Given the description of an element on the screen output the (x, y) to click on. 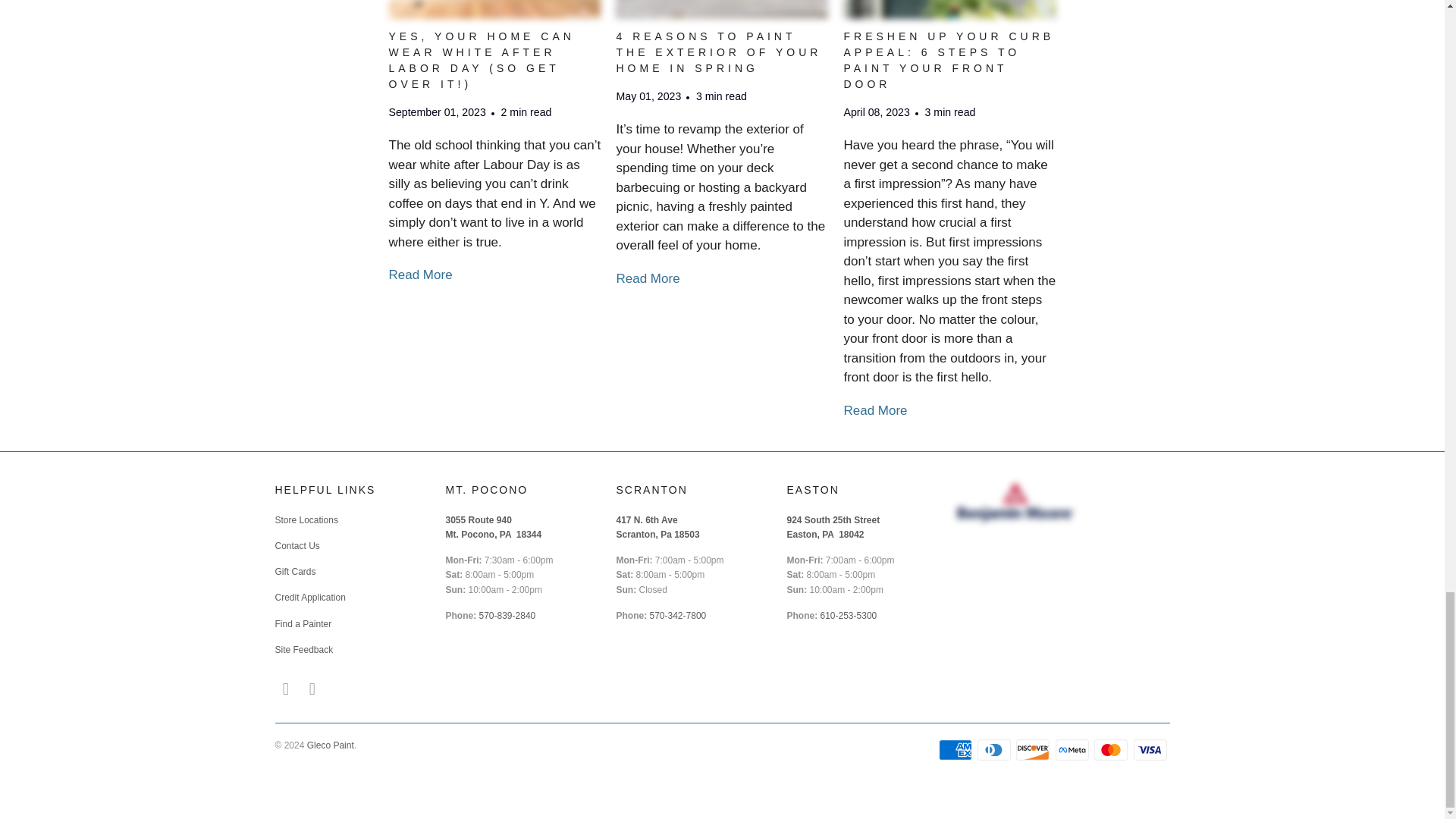
Visa (1150, 749)
Meta Pay (1073, 749)
American Express (957, 749)
Mastercard (1112, 749)
Diners Club (994, 749)
Discover (1034, 749)
